Given the description of an element on the screen output the (x, y) to click on. 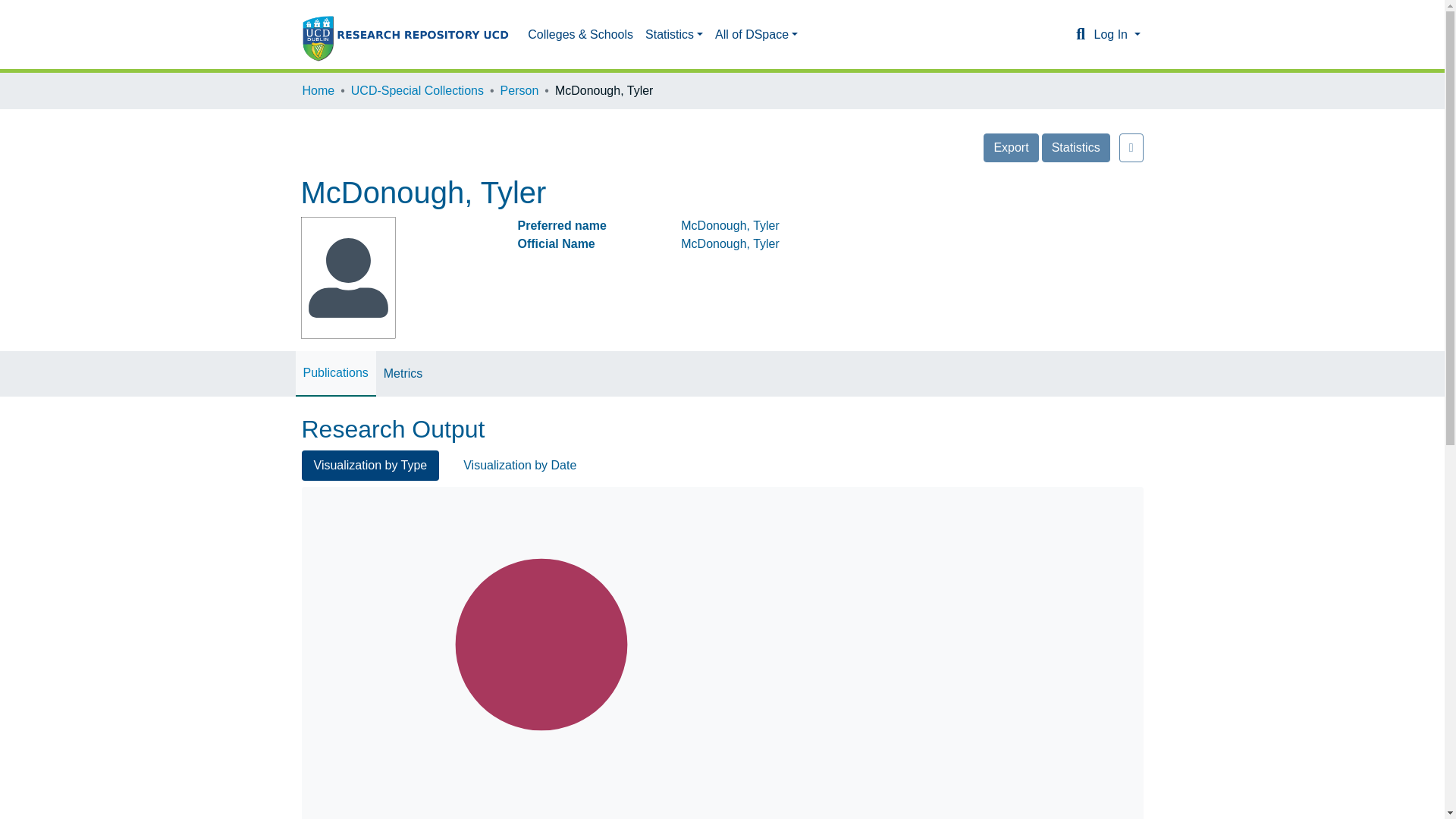
Export (1011, 147)
Metrics (402, 288)
Visualization by Type (370, 378)
Search (1080, 34)
Home (317, 90)
Person (519, 90)
Publications (335, 287)
Visualization by Date (519, 378)
All of DSpace (717, 34)
Statistics (634, 34)
Publications (335, 287)
UCD-Special Collections (416, 90)
Log In (1116, 33)
Statistics (1075, 147)
Metrics (402, 288)
